Given the description of an element on the screen output the (x, y) to click on. 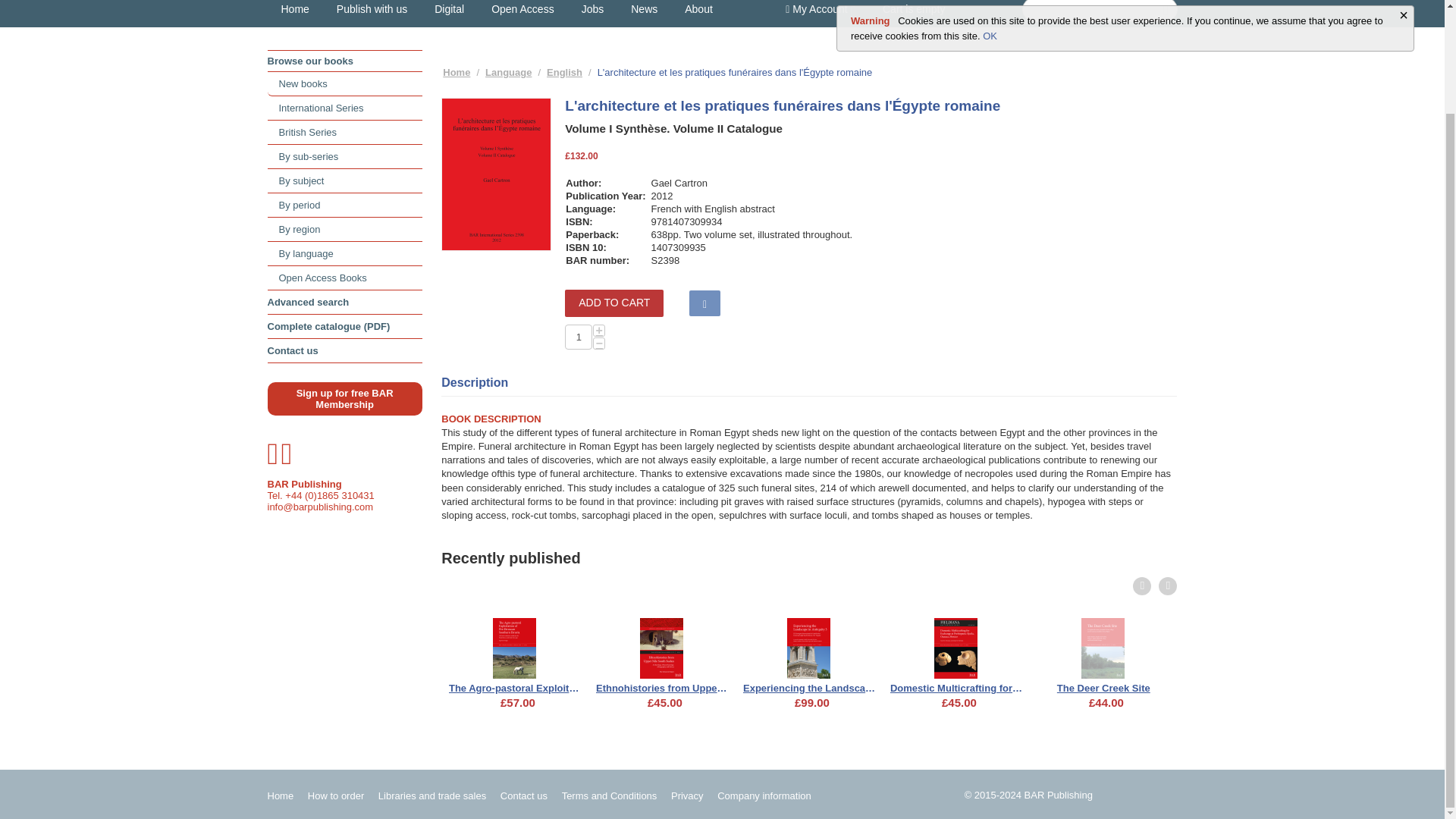
BAR on Twitter (273, 460)
News (644, 13)
Add to wish list (704, 303)
By subject (344, 180)
 My Account (820, 13)
search Author, ISBN, Title, BAR number (1099, 11)
Experiencing the Landscape in Antiquity 3 (809, 685)
New books (344, 84)
British Series (344, 132)
